Given the description of an element on the screen output the (x, y) to click on. 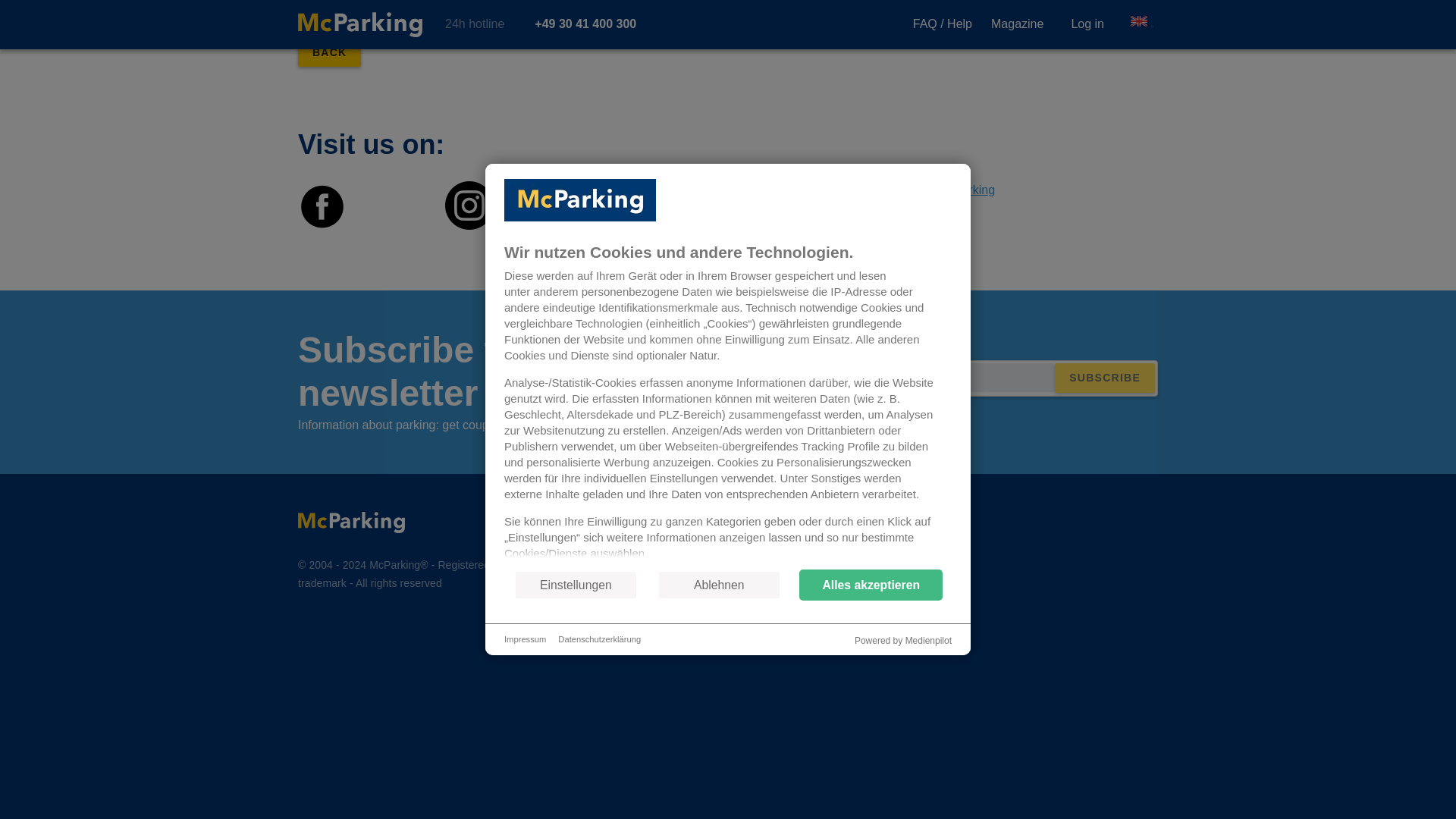
SUBSCRIBE (1104, 378)
